Given the description of an element on the screen output the (x, y) to click on. 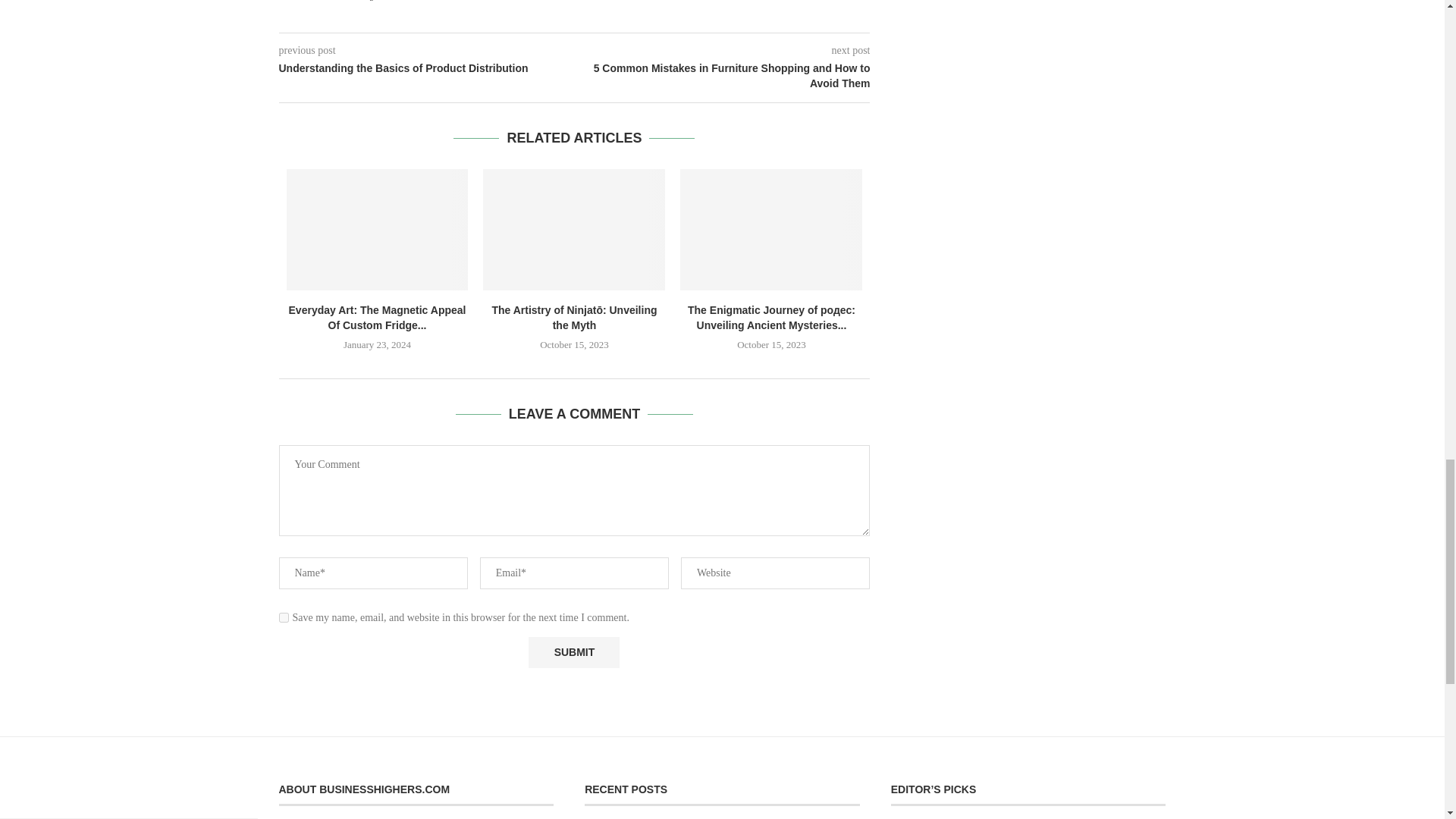
Everyday Art: The Magnetic Appeal Of Custom Fridge Magnets (377, 229)
yes (283, 617)
Everyday Art: The Magnetic Appeal Of Custom Fridge... (376, 317)
Submit (574, 652)
Understanding the Basics of Product Distribution (427, 68)
